Given the description of an element on the screen output the (x, y) to click on. 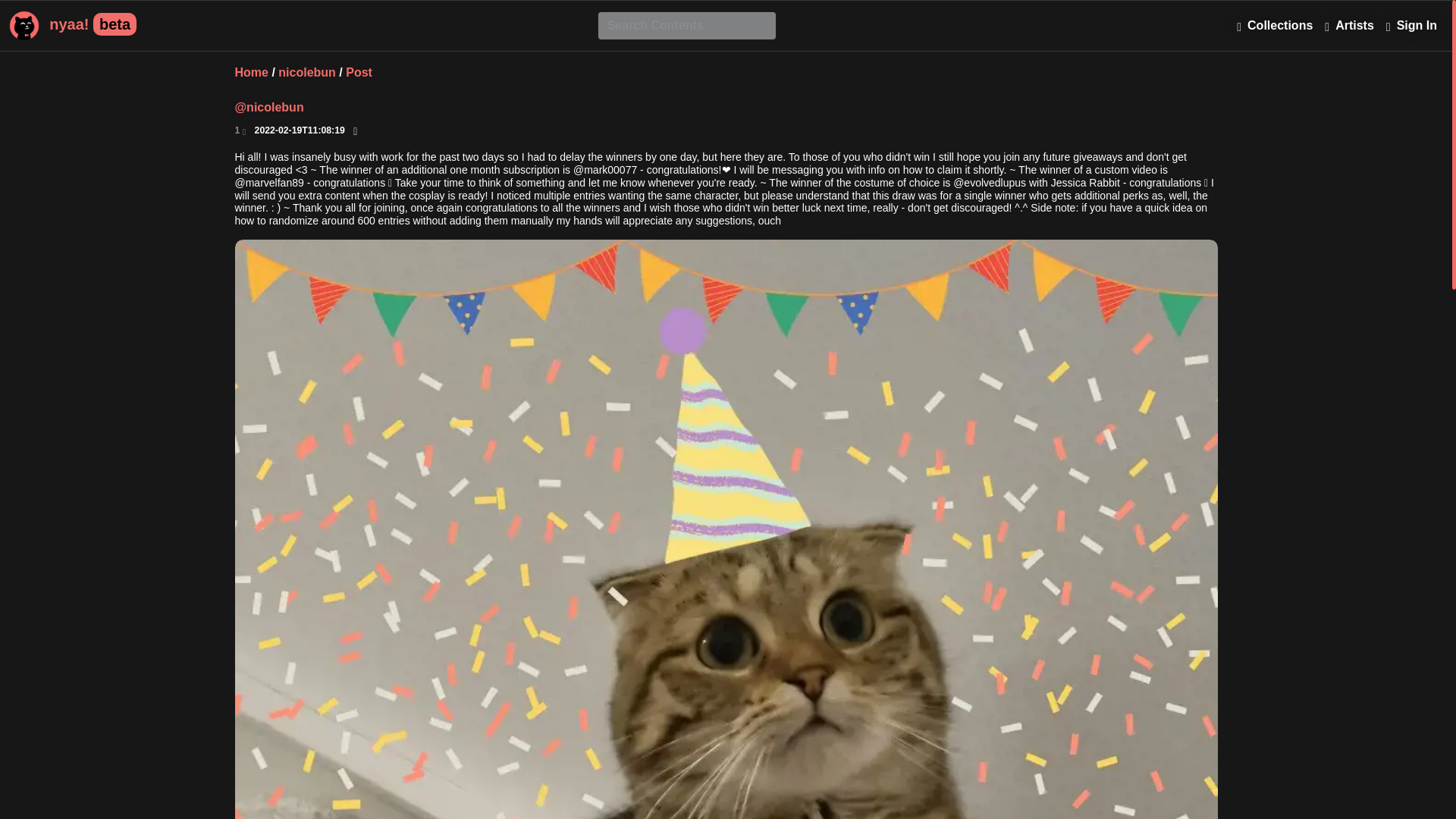
Home (250, 75)
nicolebun (307, 75)
Post (359, 75)
